Given the description of an element on the screen output the (x, y) to click on. 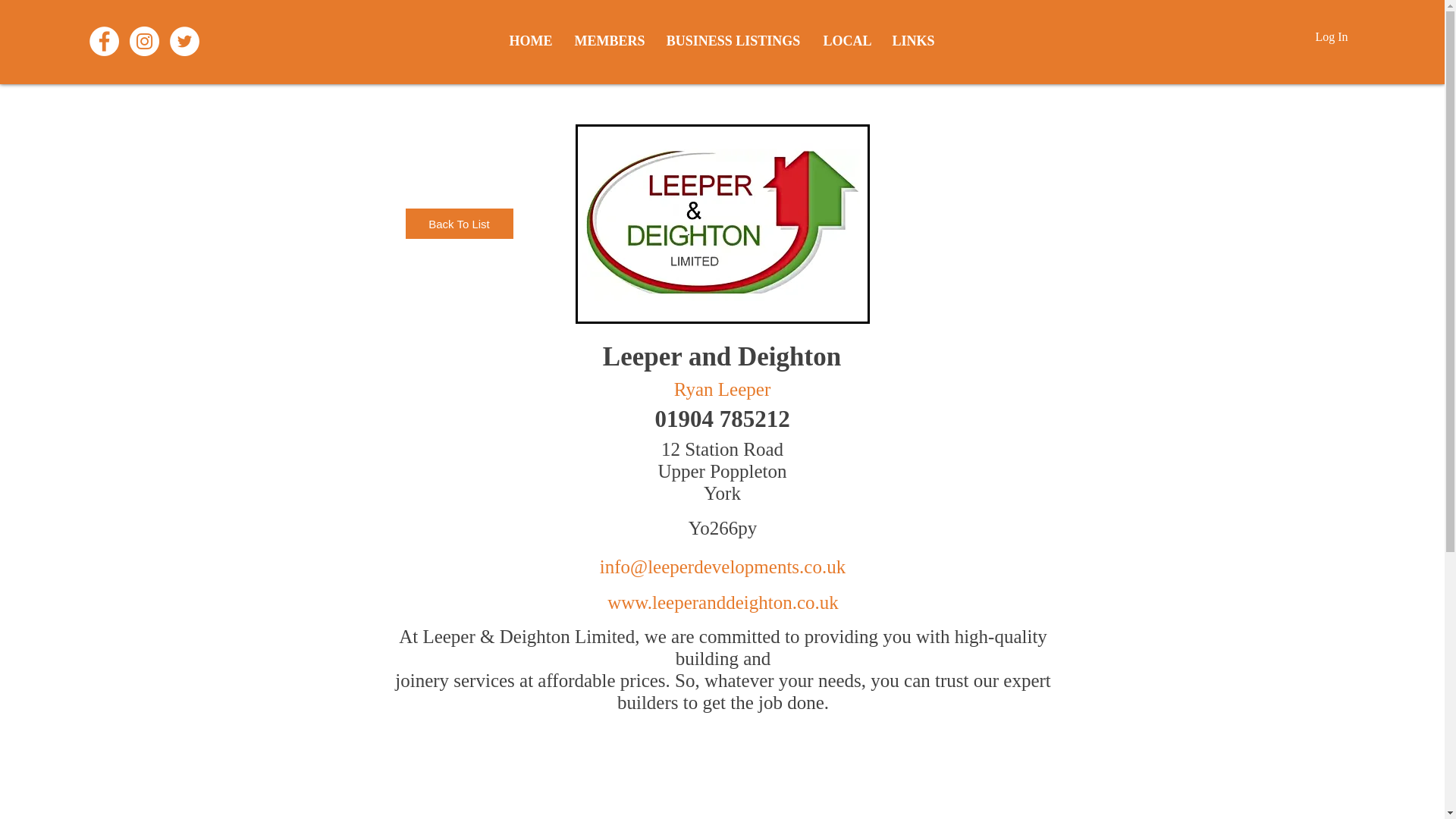
Leeper.jpg (722, 223)
HOME (529, 40)
Log In (1331, 36)
www.leeperanddeighton.co.uk (722, 602)
BUSINESS LISTINGS (733, 40)
Back To List (458, 223)
